Given the description of an element on the screen output the (x, y) to click on. 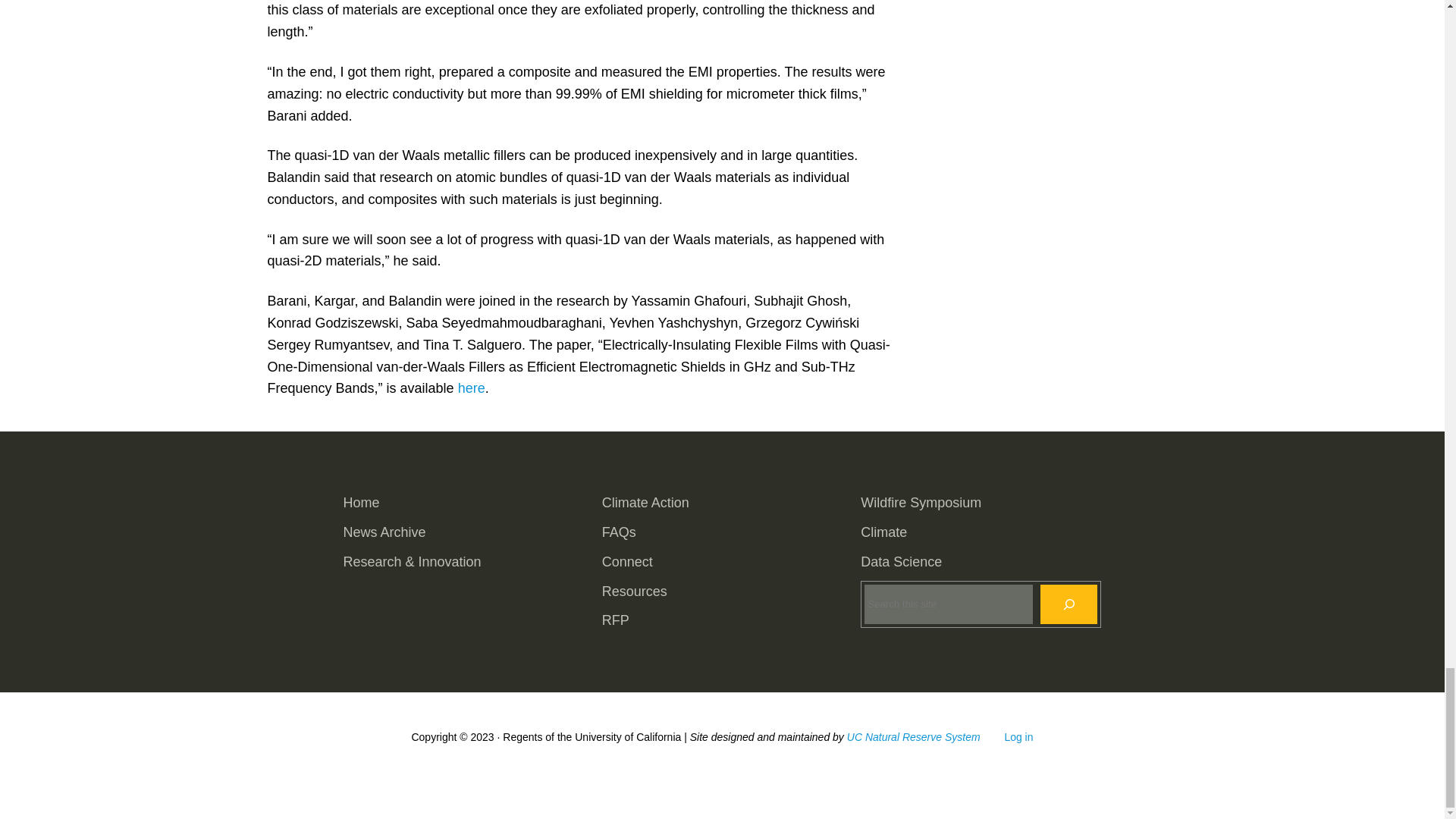
here (471, 387)
